Given the description of an element on the screen output the (x, y) to click on. 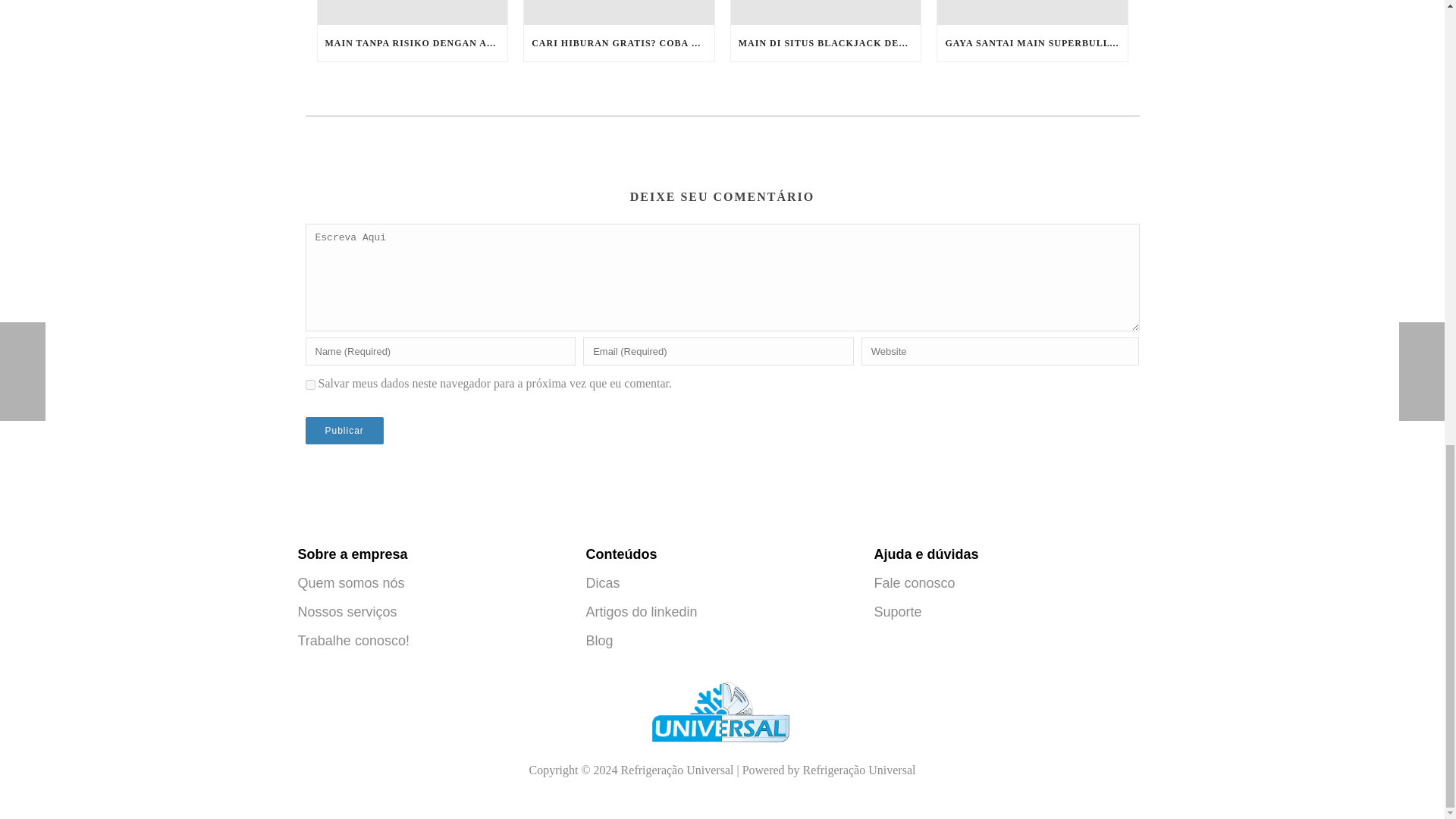
CARI HIBURAN GRATIS? COBA MAIN SLOT DEMO MAHJONG! (619, 43)
Gaya Santai Main Superbull Online Tanpa Rugi (1031, 12)
Cari Hiburan Gratis? Coba Main Slot Demo Mahjong! (619, 12)
yes (309, 384)
Publicar (343, 430)
